Given the description of an element on the screen output the (x, y) to click on. 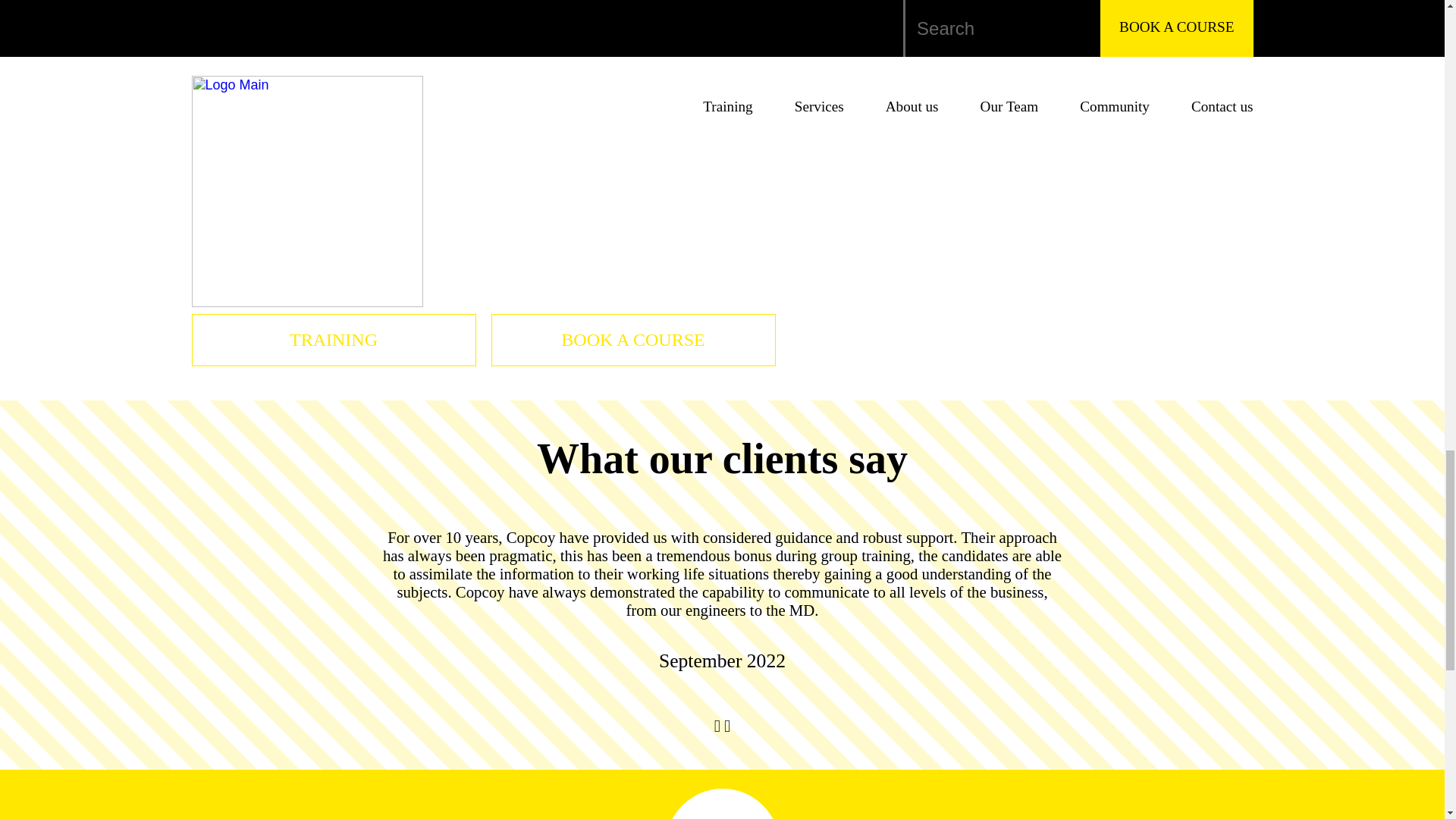
BOOK A COURSE (633, 339)
Training (334, 339)
TRAINING (334, 339)
Book a course (633, 339)
